Given the description of an element on the screen output the (x, y) to click on. 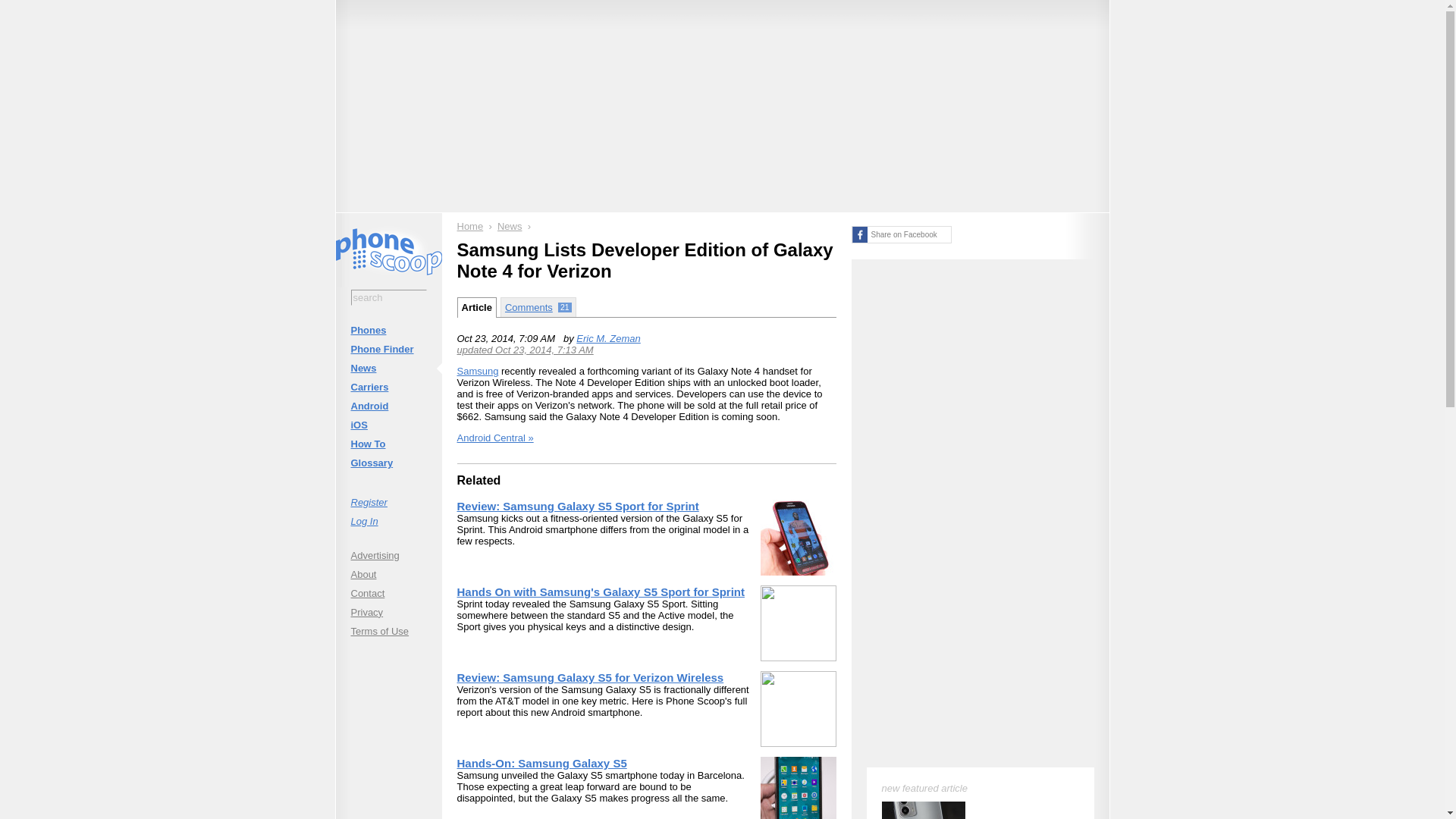
Samsung (477, 370)
Share on Facebook (900, 234)
Glossary (387, 462)
Privacy (387, 610)
Home (470, 225)
iOS (387, 424)
News (509, 225)
Phones (387, 330)
search (388, 297)
News (387, 367)
Comments  21 (538, 306)
Contact (387, 592)
Phone Finder (387, 348)
